Given the description of an element on the screen output the (x, y) to click on. 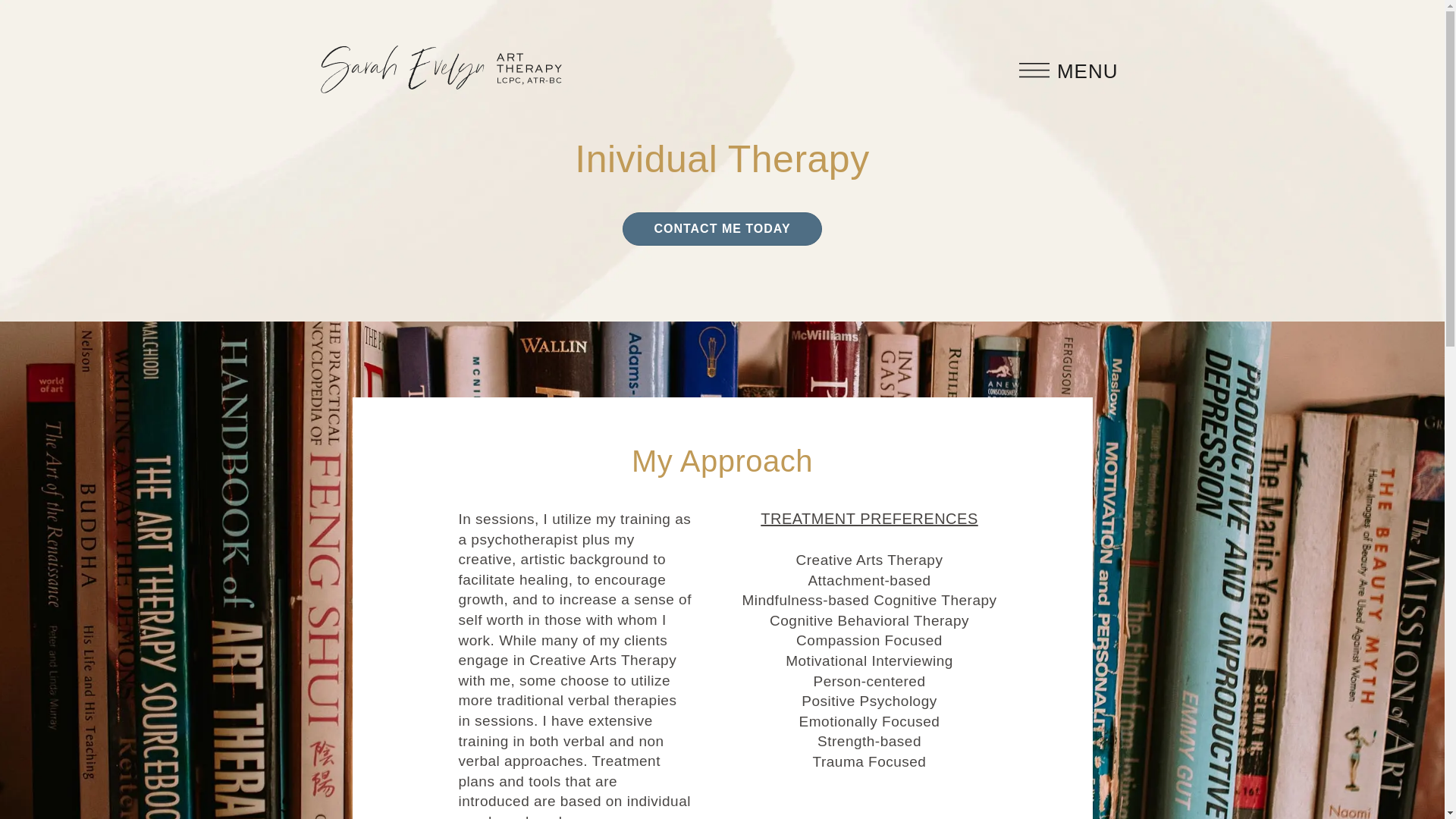
CONTACT ME TODAY (722, 228)
Logo: Sarah Evelyn Art Therapy, LCPC, ATR-BC (440, 69)
